Given the description of an element on the screen output the (x, y) to click on. 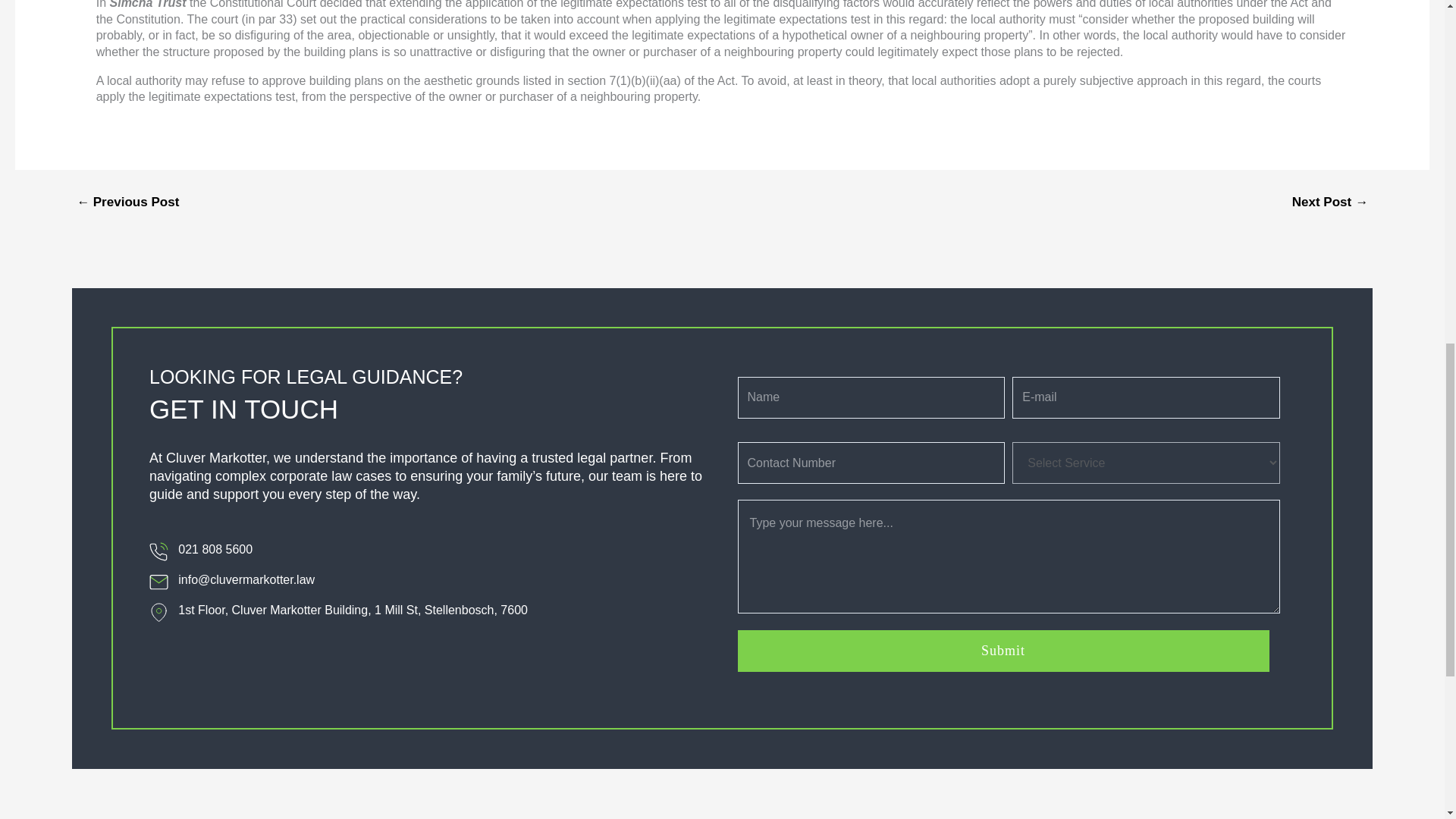
021 808 5600 (338, 548)
Submit (1002, 650)
Submit (1002, 650)
